Given the description of an element on the screen output the (x, y) to click on. 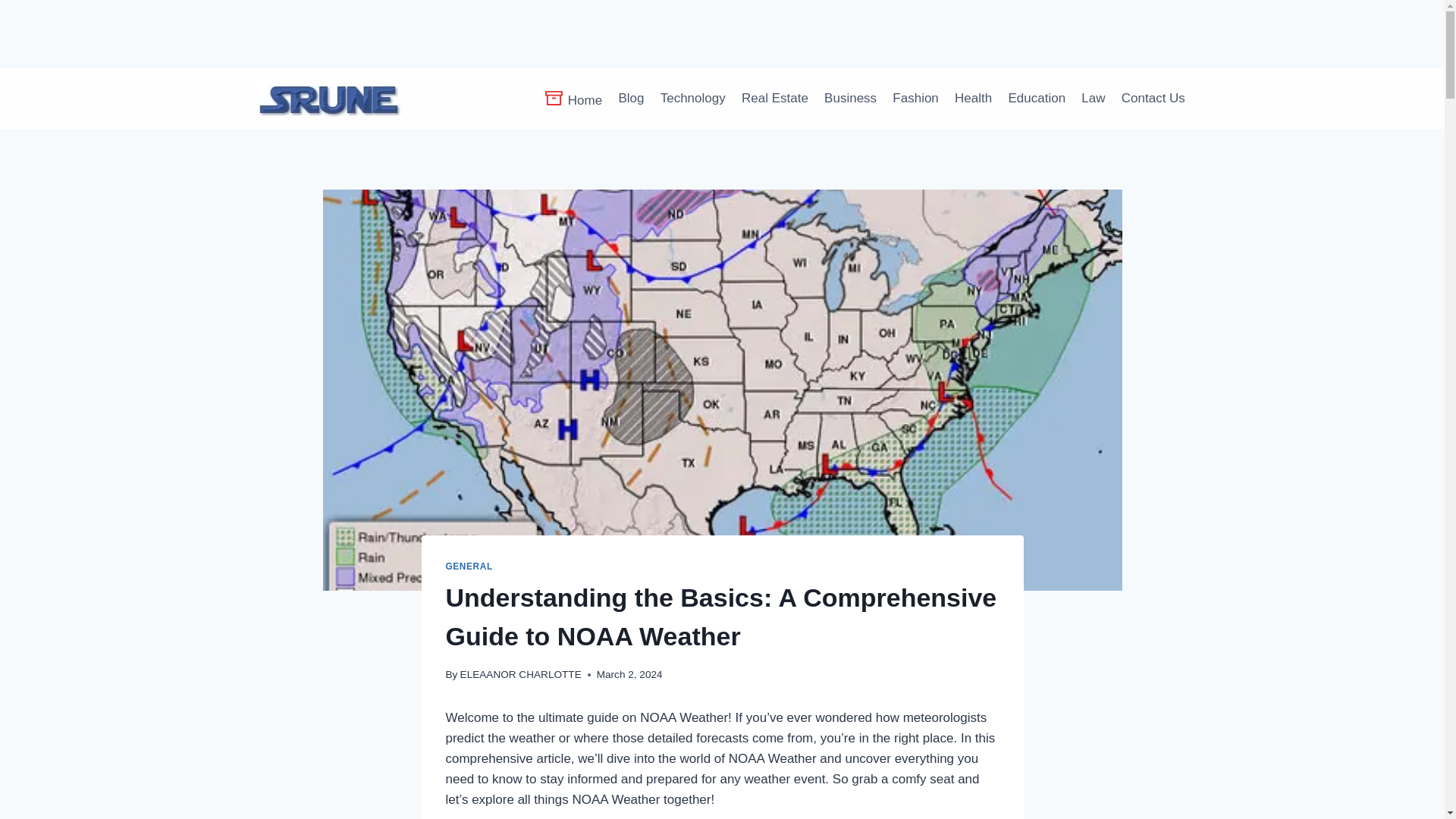
Contact Us (1152, 98)
Law (1093, 98)
Technology (692, 98)
GENERAL (469, 566)
Home (573, 97)
Health (972, 98)
Blog (631, 98)
Real Estate (774, 98)
Fashion (916, 98)
ELEAANOR CHARLOTTE (520, 674)
Business (849, 98)
Education (1037, 98)
